Given the description of an element on the screen output the (x, y) to click on. 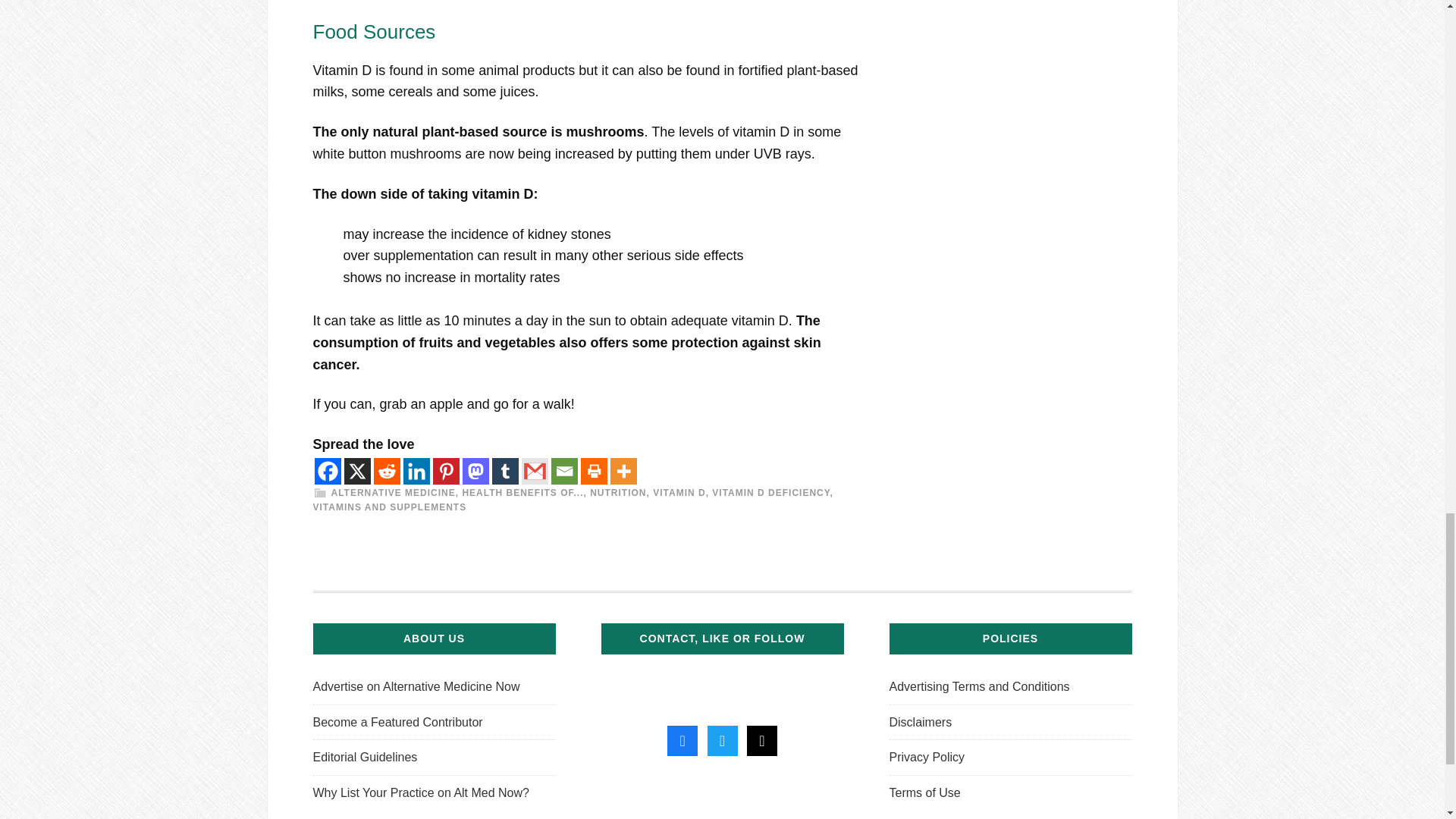
Facebook (327, 470)
NUTRITION (617, 492)
VITAMIN D DEFICIENCY (770, 492)
VITAMINS AND SUPPLEMENTS (389, 507)
VITAMIN D (678, 492)
Reddit (385, 470)
ALTERNATIVE MEDICINE (392, 492)
HEALTH BENEFITS OF... (522, 492)
Advertise on Alternative Medicine Now (416, 686)
More (623, 470)
Mastodon (476, 470)
Become a Featured Contributor (397, 721)
Print (593, 470)
Linkedin (416, 470)
Google Gmail (534, 470)
